Given the description of an element on the screen output the (x, y) to click on. 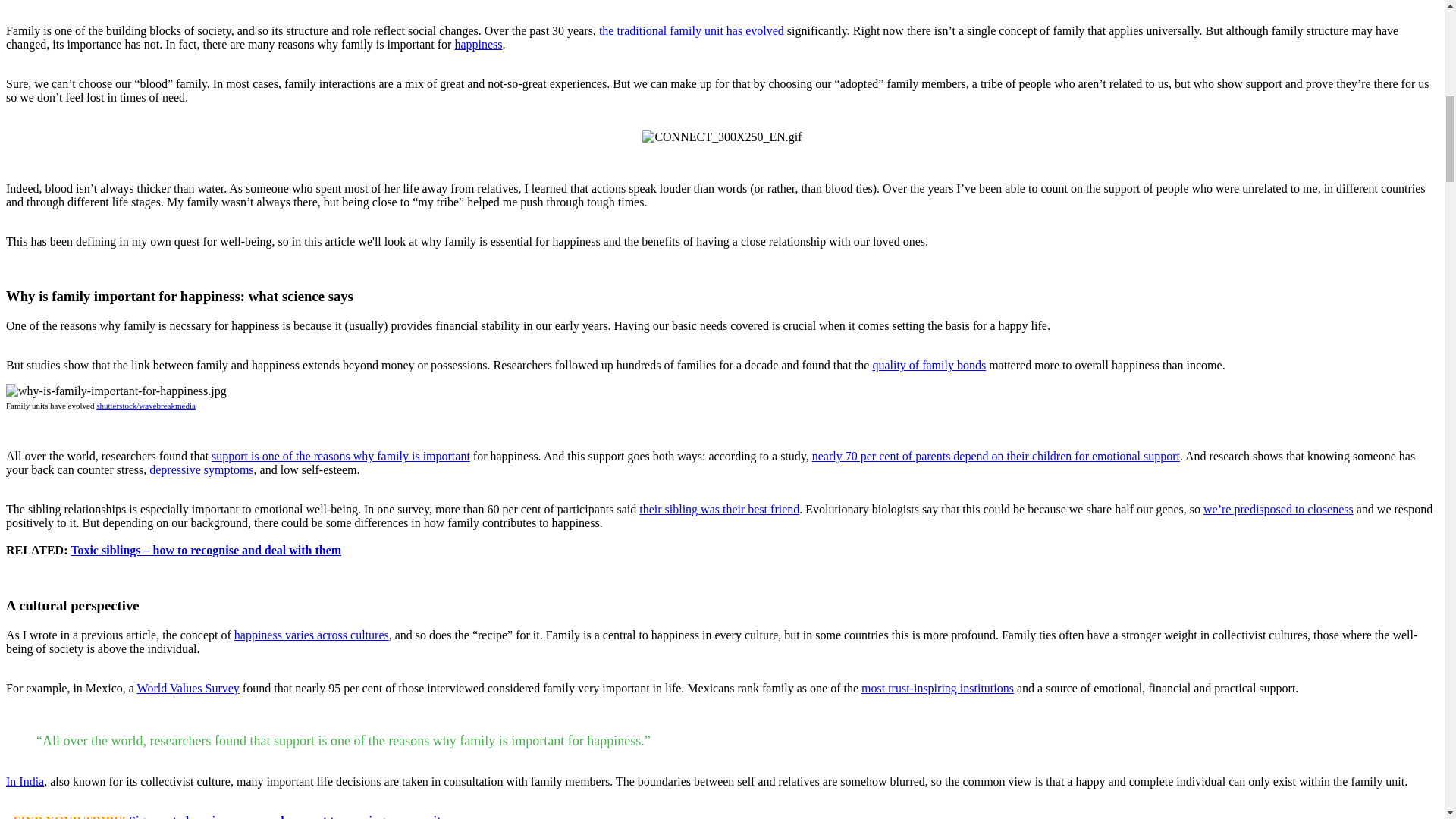
quality of family bonds (928, 364)
the traditional family unit has evolved (691, 30)
happiness (478, 43)
